Given the description of an element on the screen output the (x, y) to click on. 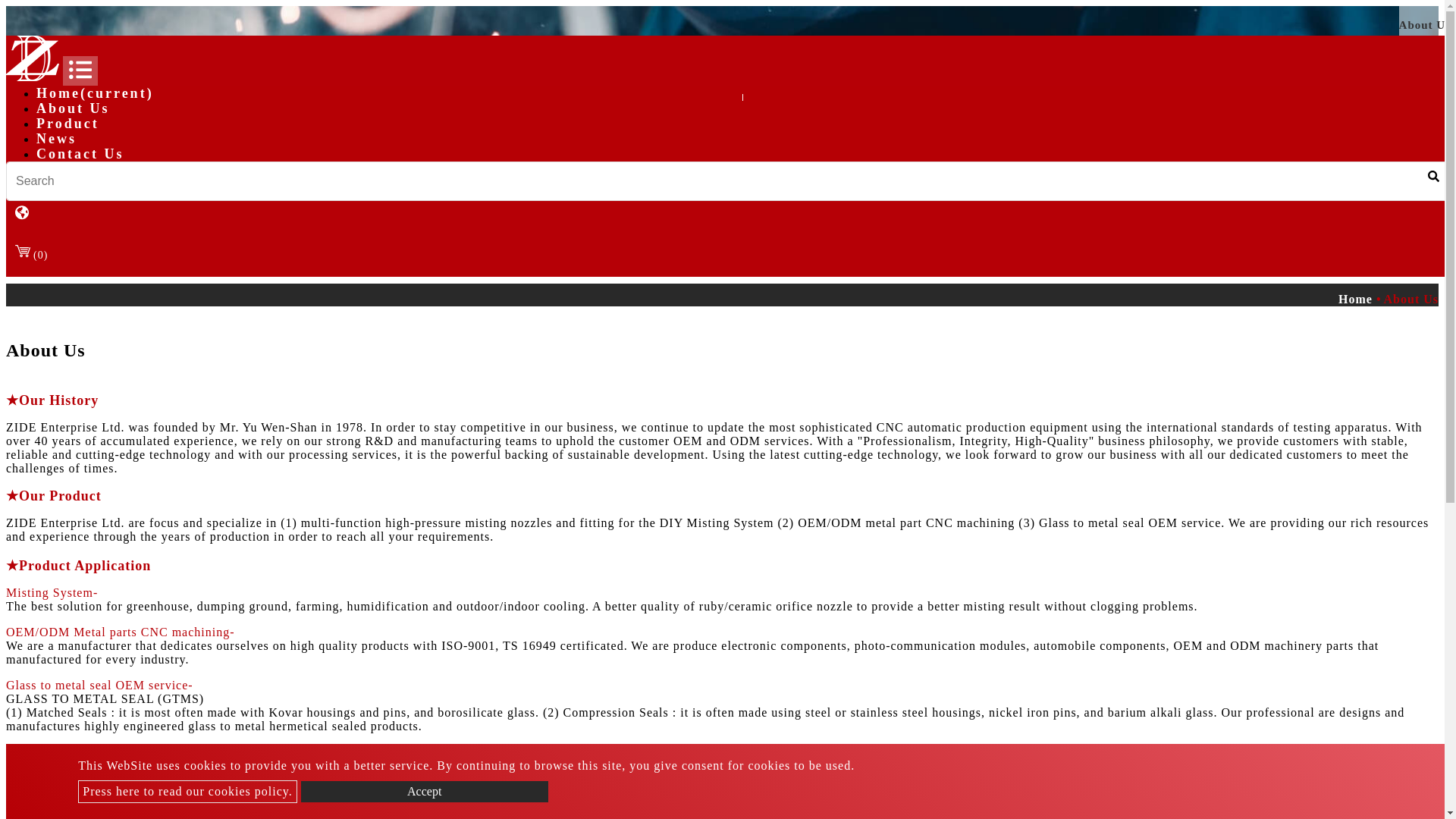
Accept (424, 791)
Home (1360, 298)
ZIDE Enterprise Ltd. (32, 76)
Press here to read our cookies policy. (187, 791)
